Given the description of an element on the screen output the (x, y) to click on. 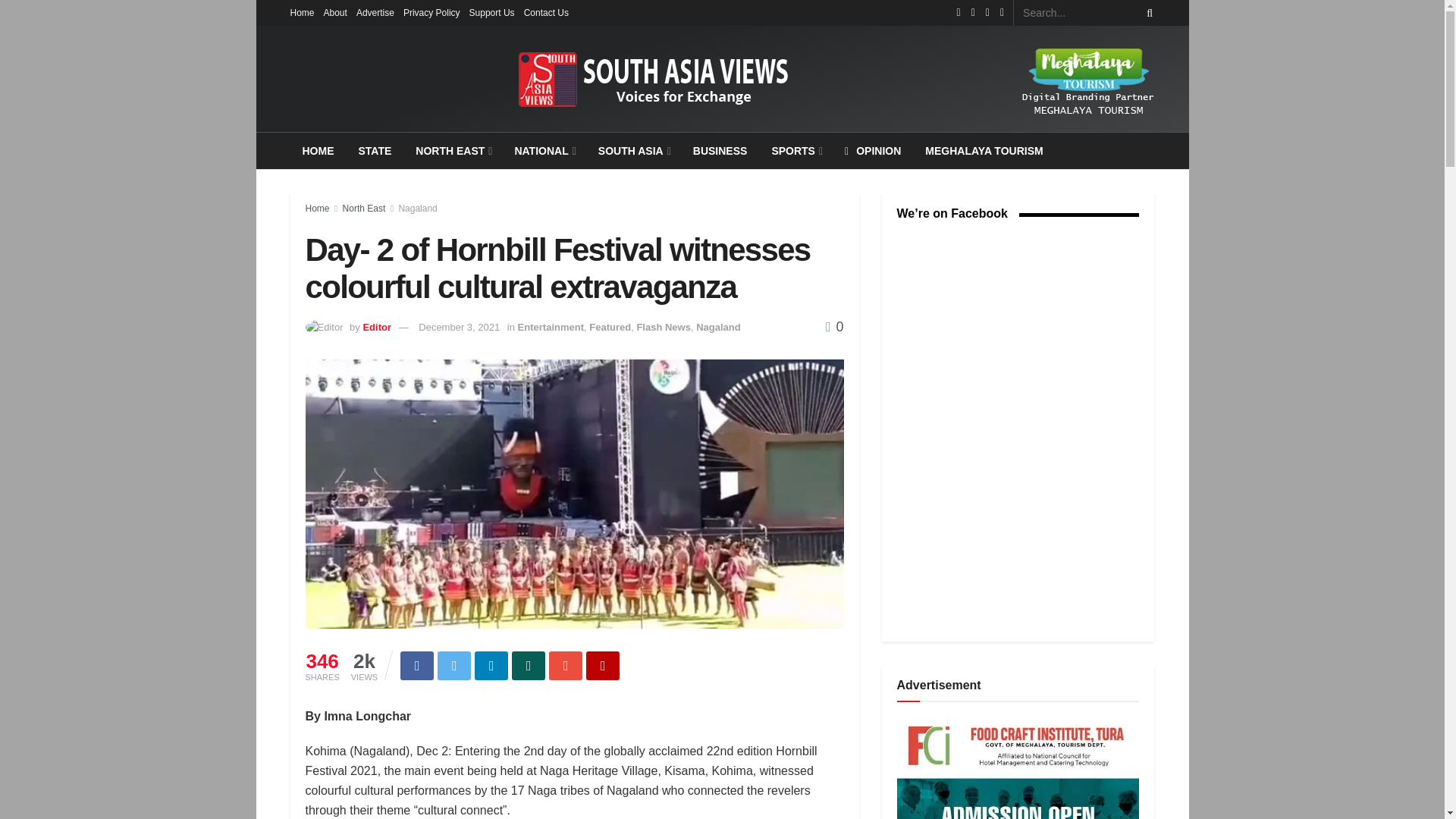
Advertisement (1017, 768)
Support Us (491, 12)
Privacy Policy (431, 12)
HOME (317, 150)
About (335, 12)
NORTH EAST (452, 150)
Contact Us (546, 12)
STATE (374, 150)
Home (301, 12)
Advertise (375, 12)
